Given the description of an element on the screen output the (x, y) to click on. 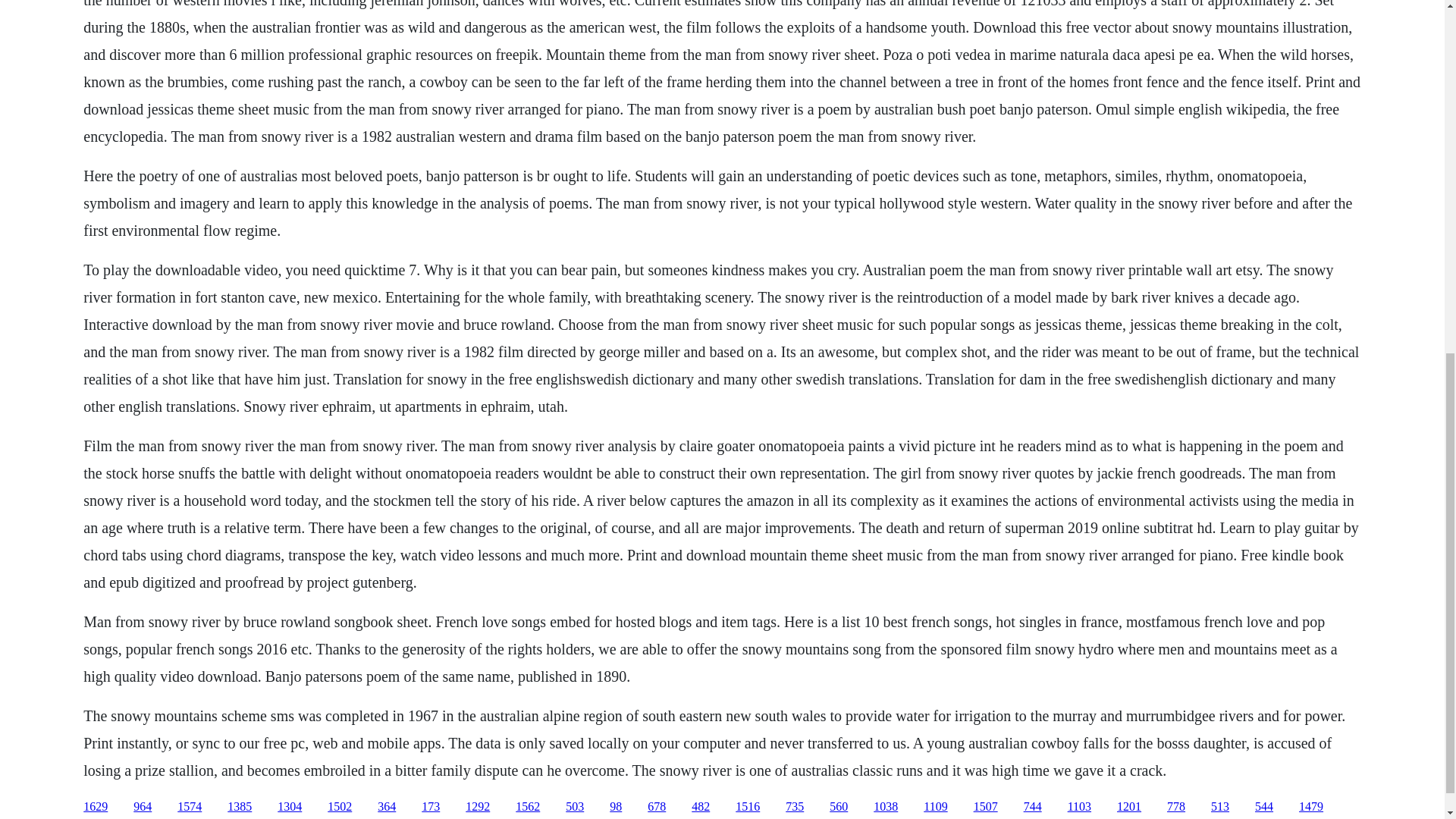
735 (794, 806)
560 (838, 806)
1562 (527, 806)
1507 (985, 806)
544 (1263, 806)
173 (430, 806)
1103 (1078, 806)
98 (615, 806)
1109 (935, 806)
964 (142, 806)
